Given the description of an element on the screen output the (x, y) to click on. 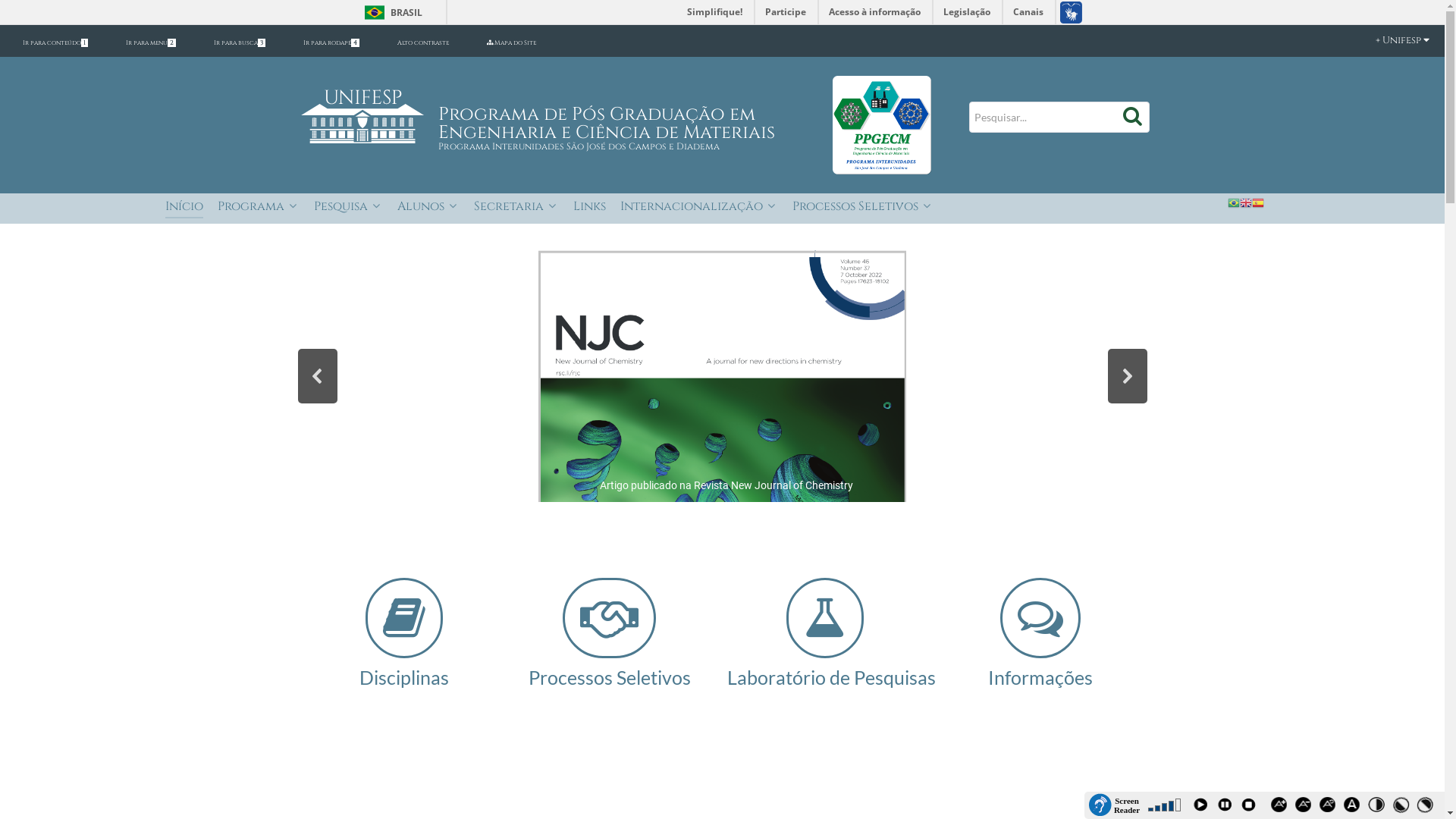
on Element type: text (4, 4)
BRASIL Element type: text (389, 12)
Gantry 5 Element type: hover (881, 123)
Portuguese Element type: hover (1233, 202)
Spanish Element type: hover (1258, 202)
Ir para menu2 Element type: text (150, 42)
Ir para busca3 Element type: text (239, 42)
English Element type: hover (1245, 202)
Alto contraste Element type: text (423, 42)
Processos Seletivos Element type: text (862, 206)
+ Unifesp Element type: text (1387, 40)
Mapa do Site Element type: text (511, 42)
Artigo publicado na Revista New Journal of Chemistry Element type: text (722, 375)
Links Element type: text (589, 206)
